Given the description of an element on the screen output the (x, y) to click on. 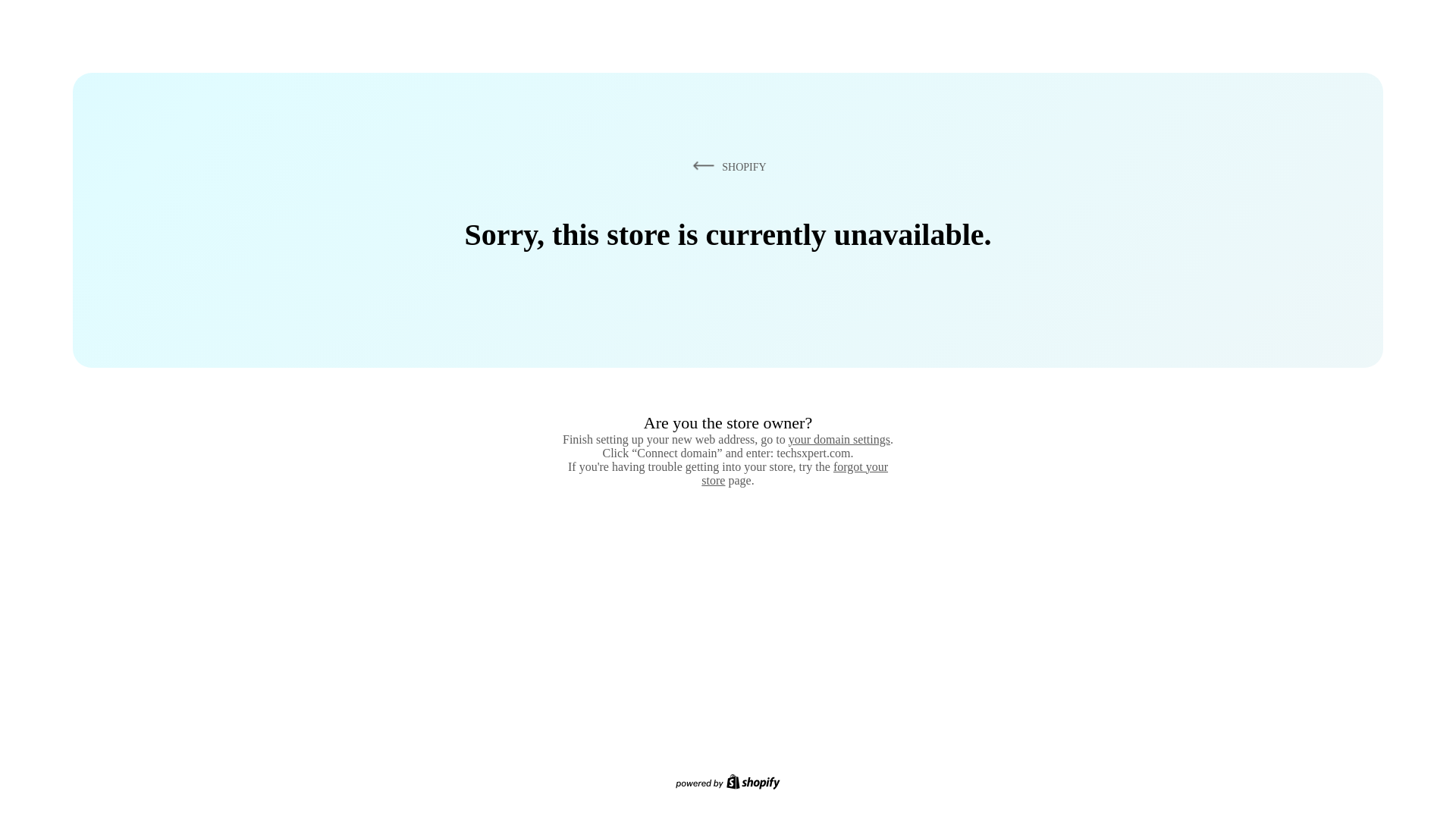
your domain settings (839, 439)
forgot your store (794, 473)
SHOPIFY (726, 166)
